Given the description of an element on the screen output the (x, y) to click on. 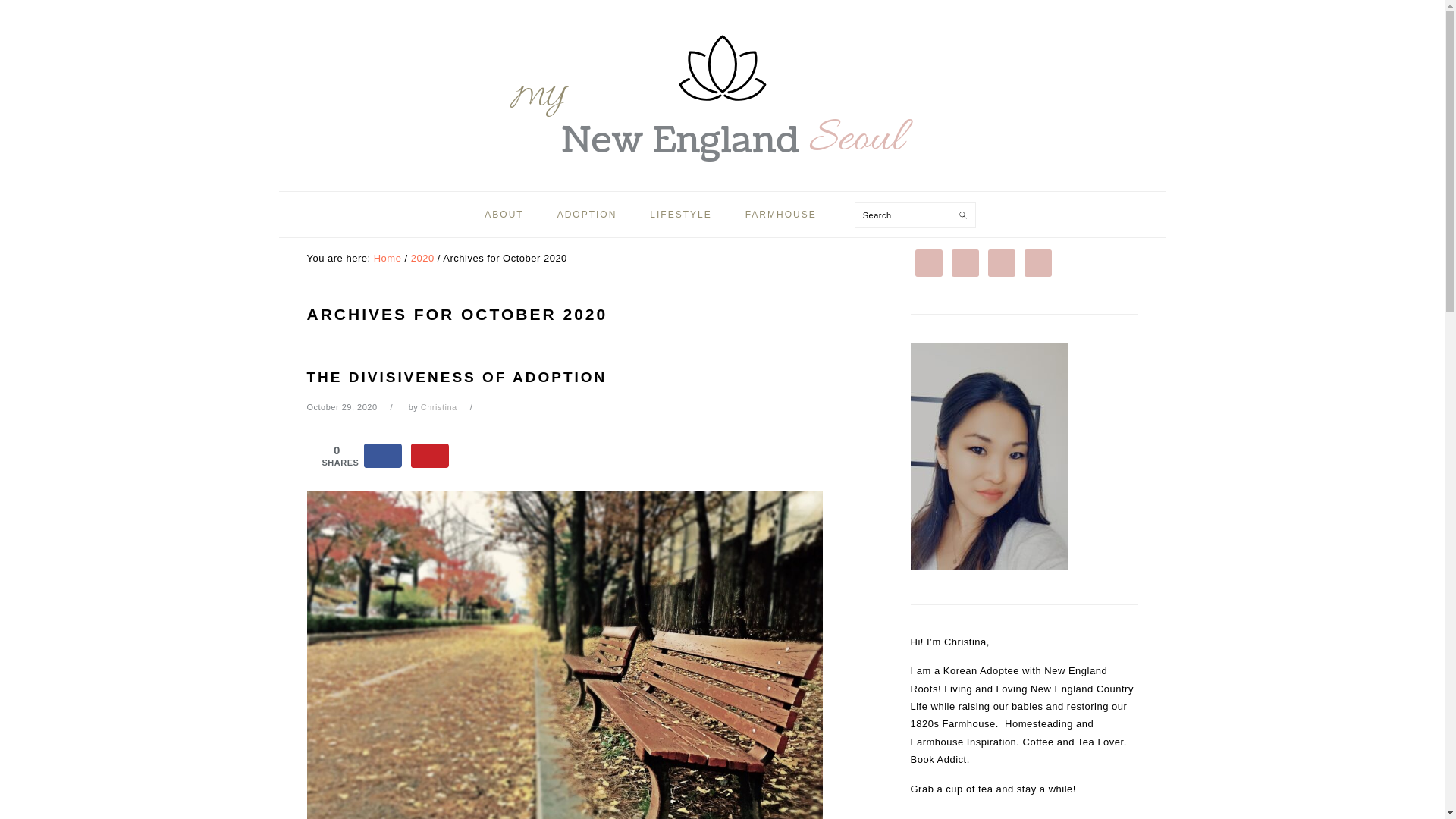
My New England Seoul (721, 86)
Christina (438, 406)
Save to Pinterest (429, 455)
ABOUT (503, 214)
LIFESTYLE (679, 214)
Share on Facebook (382, 455)
FARMHOUSE (780, 214)
My New England Seoul (721, 175)
Home (387, 257)
